Given the description of an element on the screen output the (x, y) to click on. 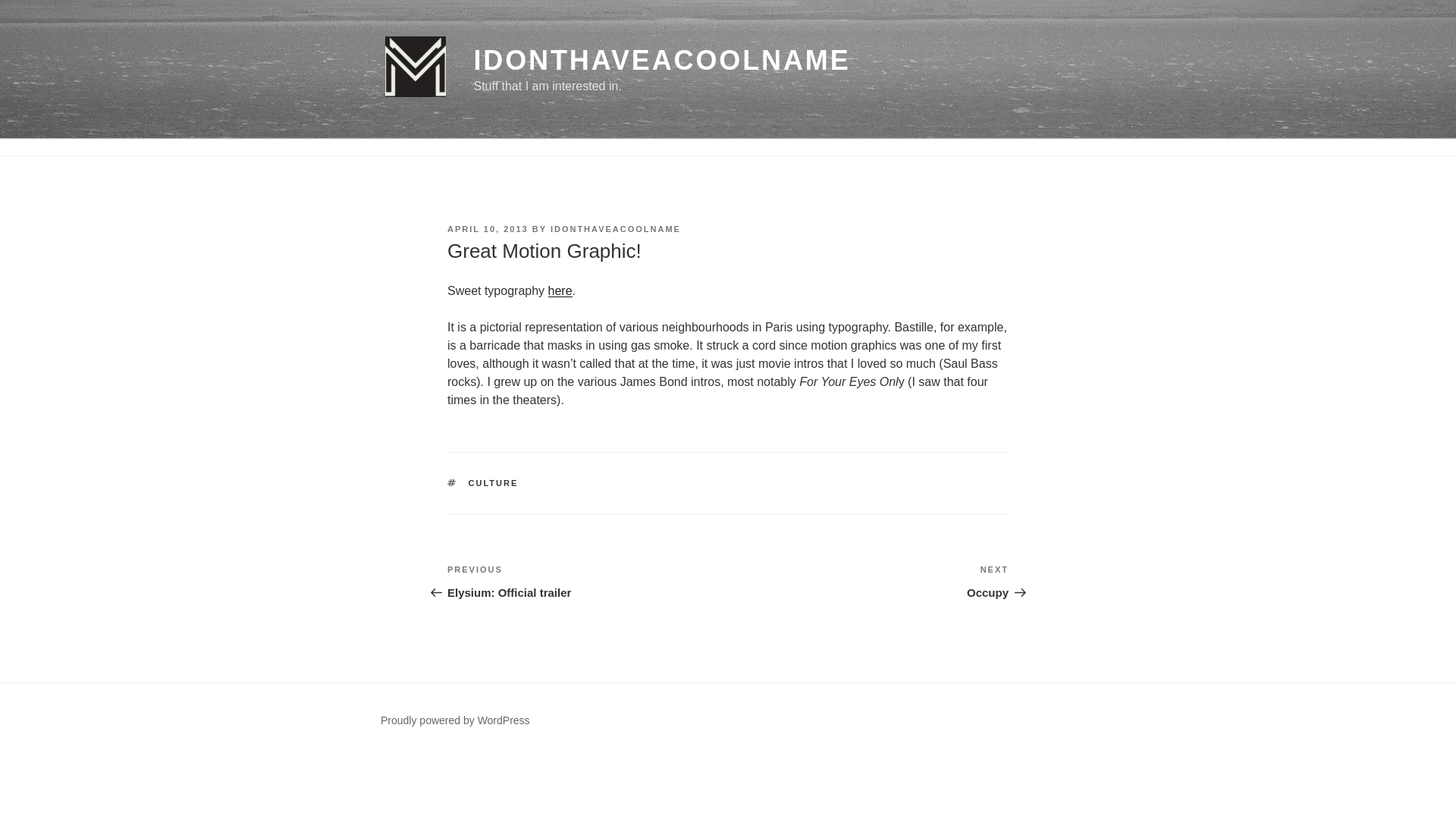
Proudly powered by WordPress (868, 581)
APRIL 10, 2013 (454, 720)
here (587, 581)
IDONTHAVEACOOLNAME (487, 228)
CULTURE (560, 290)
IDONTHAVEACOOLNAME (661, 60)
